Given the description of an element on the screen output the (x, y) to click on. 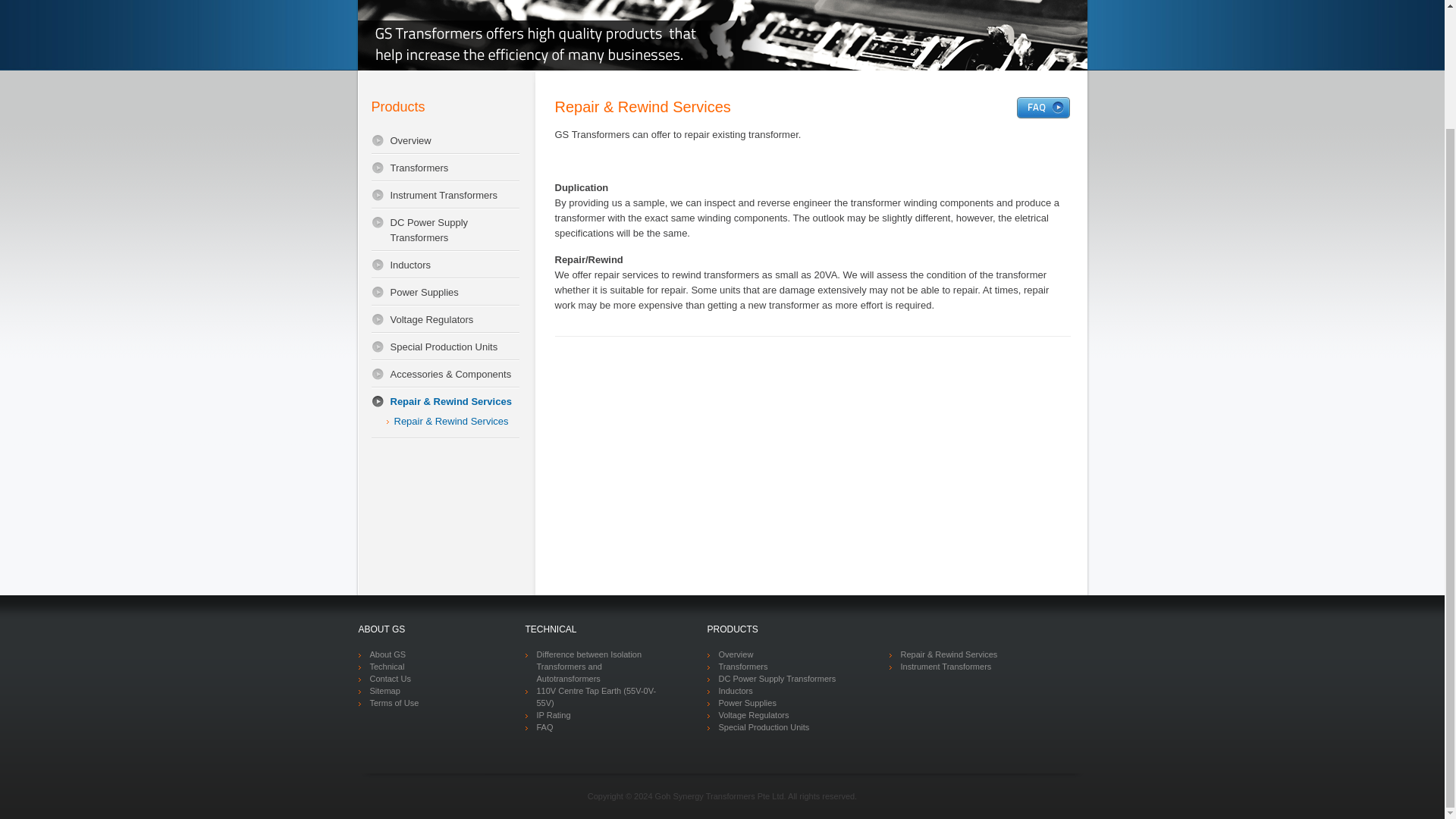
Instrument Transformers (445, 195)
Inductors (445, 265)
Power Supplies (445, 292)
Inductors (445, 265)
Technical (388, 666)
Instrument Transformers (445, 195)
Special Production Units (445, 347)
Transformers (445, 167)
Voltage Regulators (445, 319)
Transformers (445, 167)
